Given the description of an element on the screen output the (x, y) to click on. 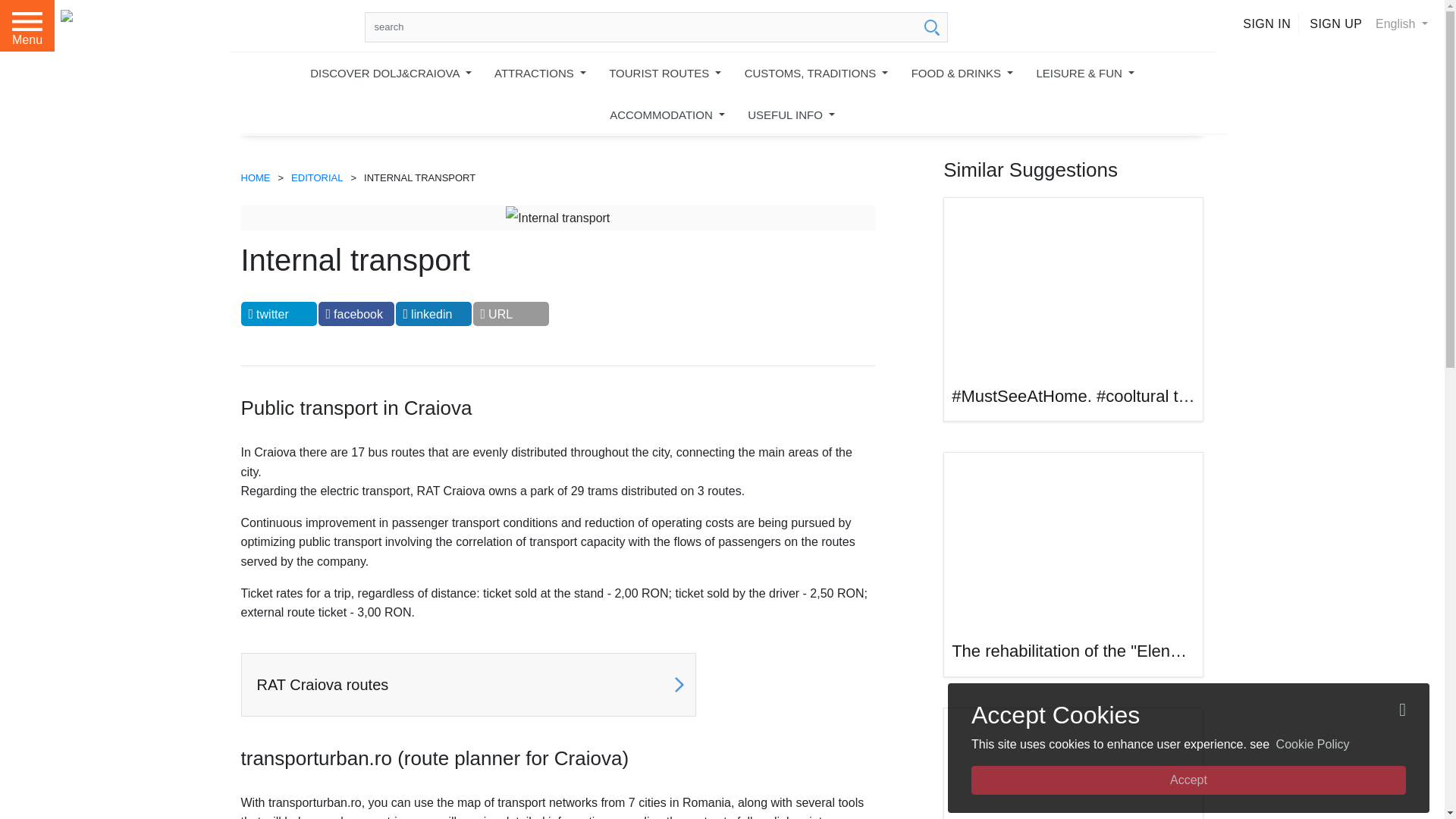
Share to Twitter (279, 313)
Share to Linkedin (433, 313)
Share URL (510, 313)
Share to Facebook (356, 313)
Menu (27, 25)
